Given the description of an element on the screen output the (x, y) to click on. 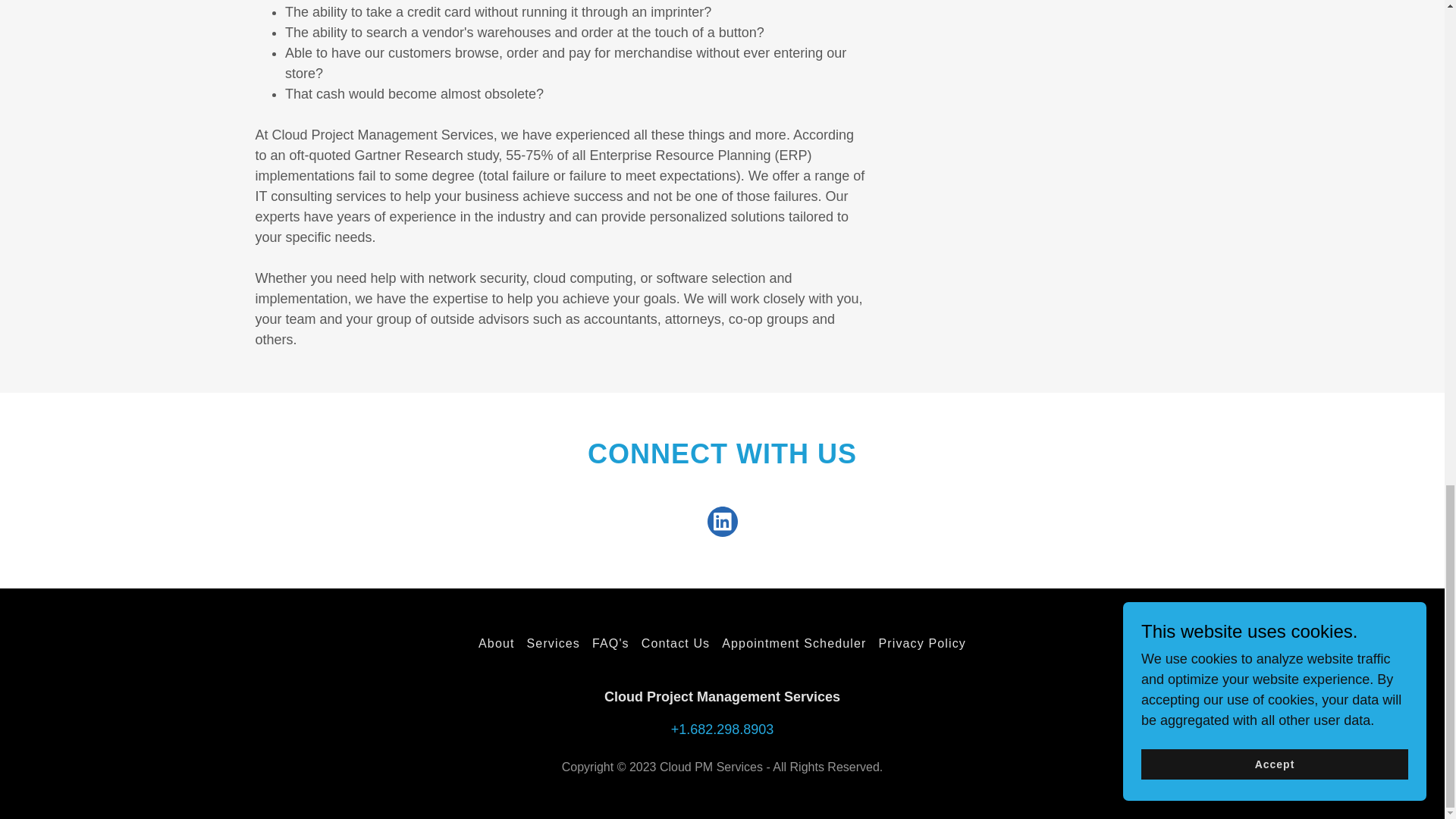
Appointment Scheduler (794, 643)
About (496, 643)
Services (553, 643)
Privacy Policy (921, 643)
FAQ's (610, 643)
Contact Us (675, 643)
